Given the description of an element on the screen output the (x, y) to click on. 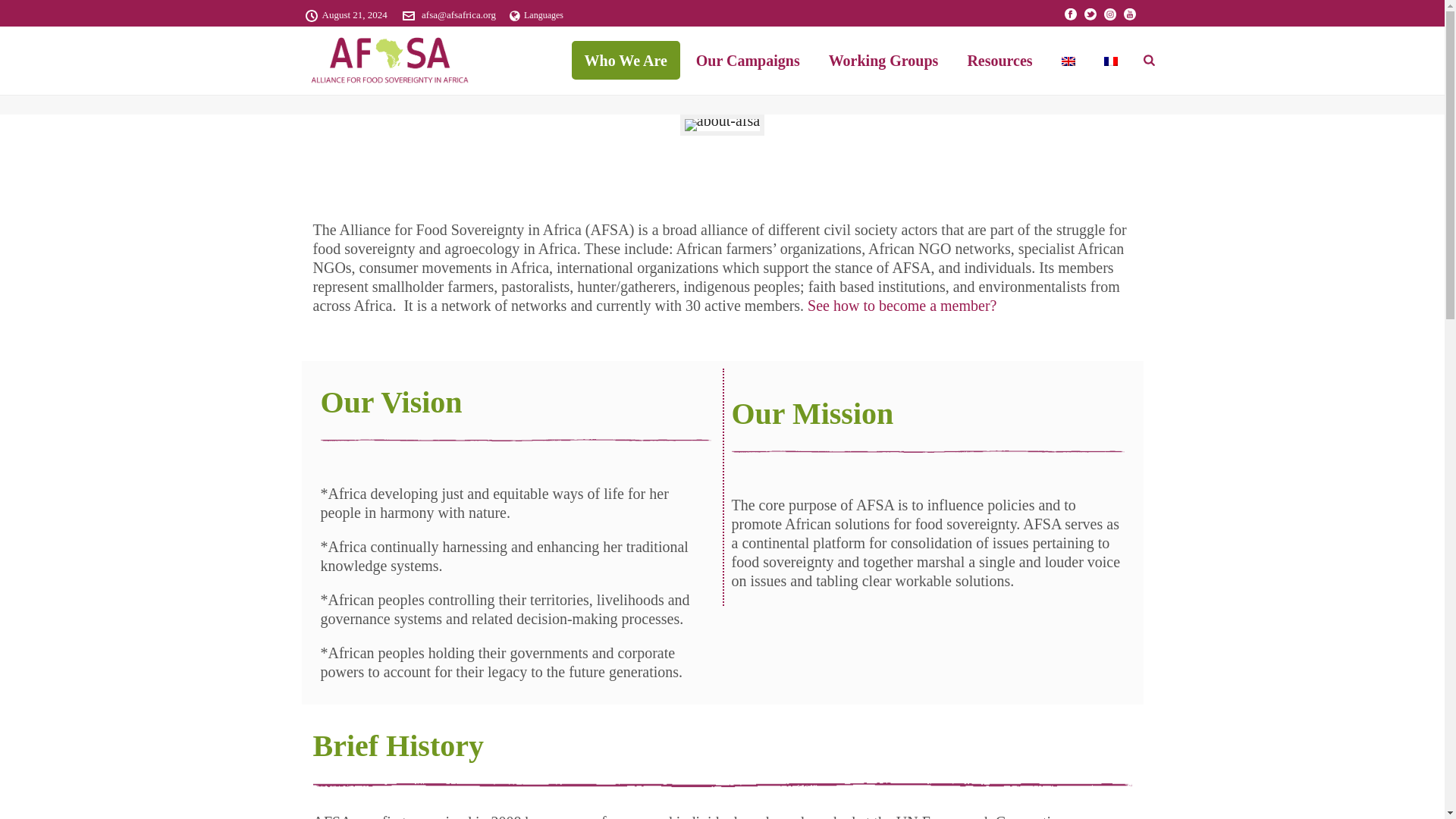
Resources (999, 59)
Our Campaigns (747, 59)
Our Campaigns (747, 59)
Working Groups (883, 59)
about-afsa (722, 124)
Working Groups (883, 59)
Languages (536, 14)
Transitioning to Agroecology (388, 60)
Resources (999, 59)
